Given the description of an element on the screen output the (x, y) to click on. 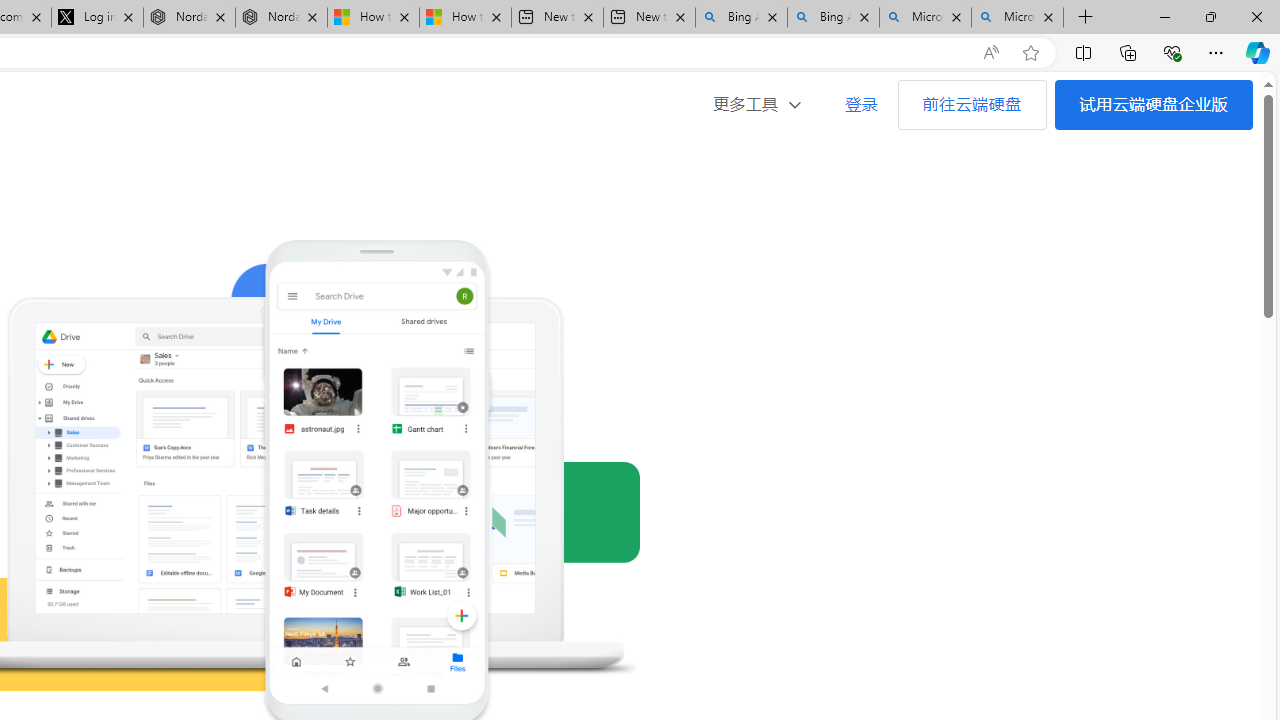
How to Use a Monitor With Your Closed Laptop (464, 17)
Log in to X / X (97, 17)
